Given the description of an element on the screen output the (x, y) to click on. 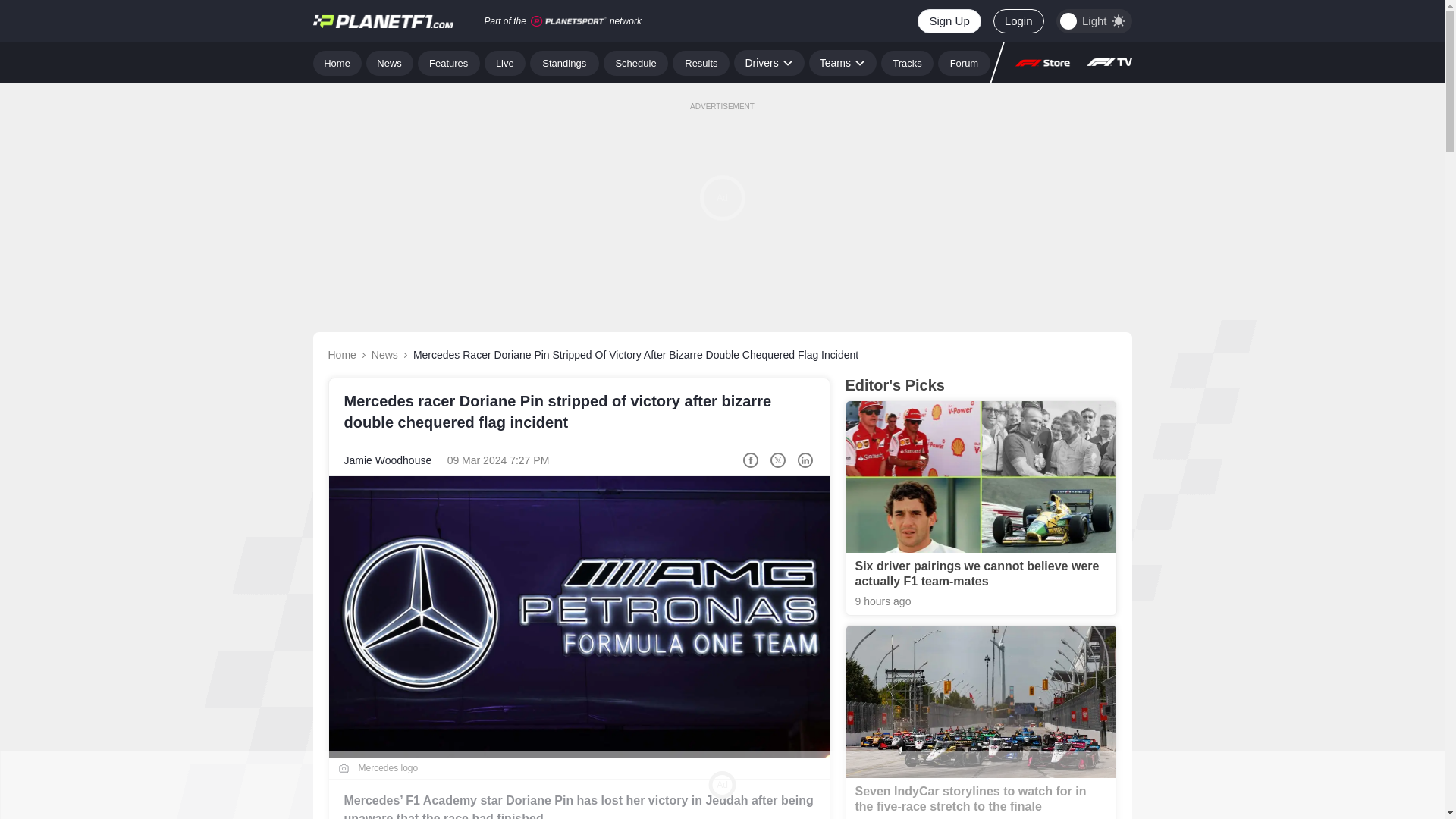
News (389, 62)
Features (448, 62)
Sign Up (948, 21)
Standings (563, 62)
Live (504, 62)
Schedule (636, 62)
Home (337, 62)
Login (1017, 21)
Teams (842, 62)
Results (700, 62)
